Given the description of an element on the screen output the (x, y) to click on. 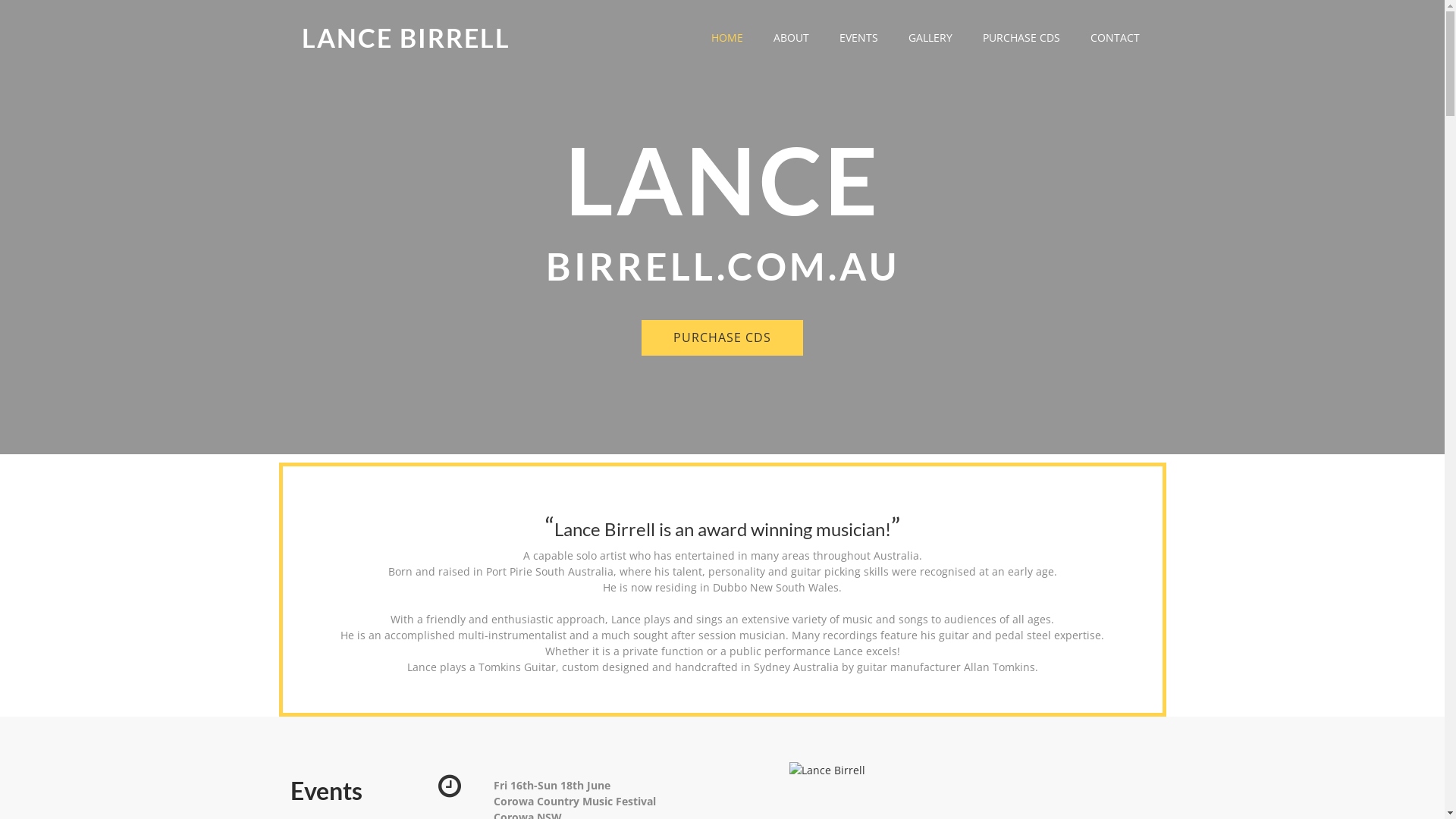
PURCHASE CDS Element type: text (1021, 37)
GALLERY Element type: text (930, 37)
CONTACT Element type: text (1114, 37)
LANCE BIRRELL Element type: text (405, 37)
ABOUT Element type: text (791, 37)
EVENTS Element type: text (857, 37)
HOME Element type: text (727, 37)
PURCHASE CDS Element type: text (722, 337)
